Given the description of an element on the screen output the (x, y) to click on. 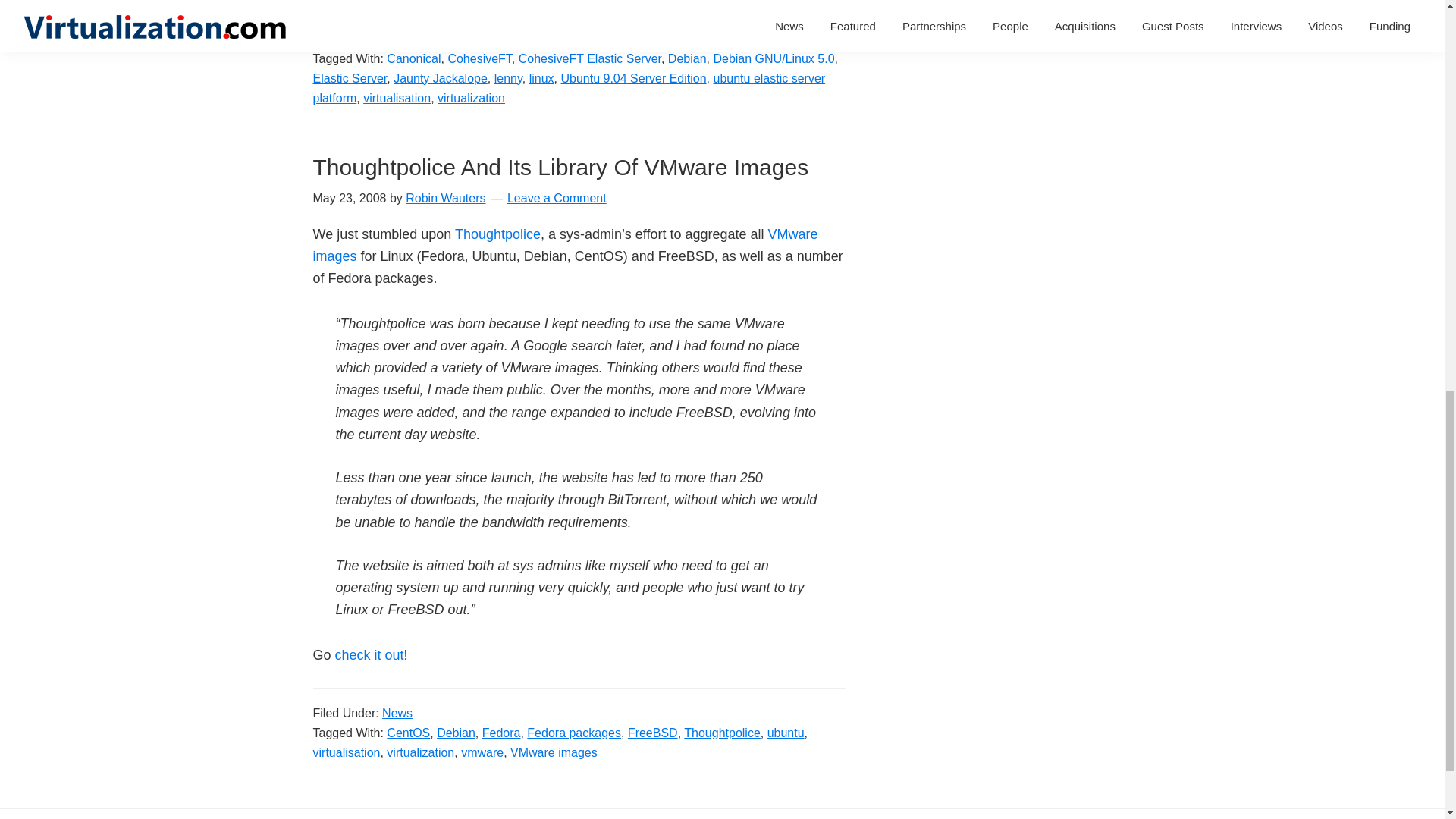
Thoughtpolice And Its Library Of VMware Images (560, 166)
CohesiveFT Elastic Server (589, 58)
lenny (508, 78)
linux (541, 78)
Leave a Comment (556, 197)
check it out (369, 654)
virtualisation (396, 97)
Canonical (414, 58)
Ubuntu 9.04 Server Edition (633, 78)
Debian (687, 58)
VMware images (564, 244)
Robin Wauters (445, 197)
Jaunty Jackalope (440, 78)
ubuntu elastic server platform (569, 88)
CohesiveFT (478, 58)
